Given the description of an element on the screen output the (x, y) to click on. 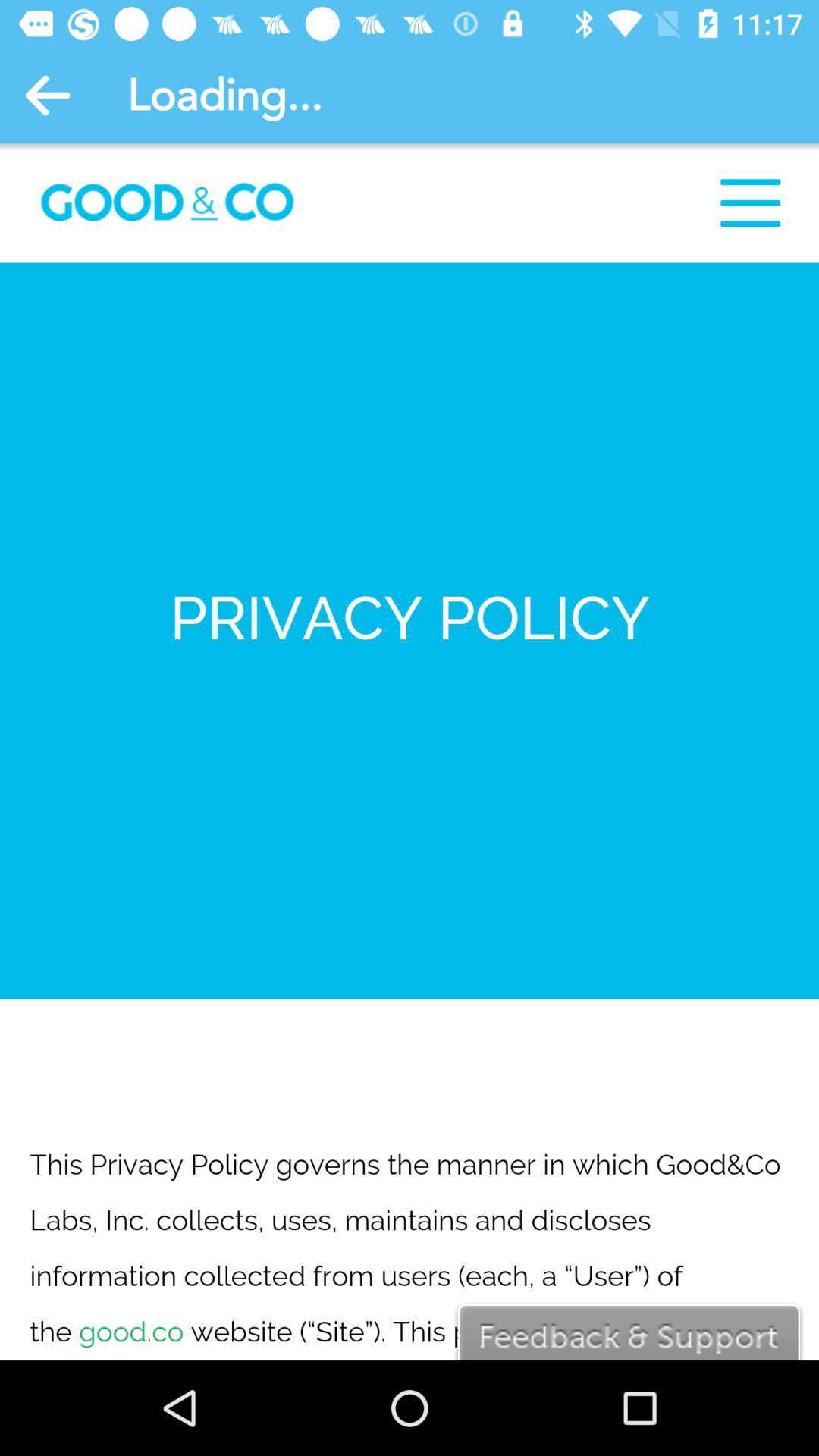
display field (409, 751)
